Given the description of an element on the screen output the (x, y) to click on. 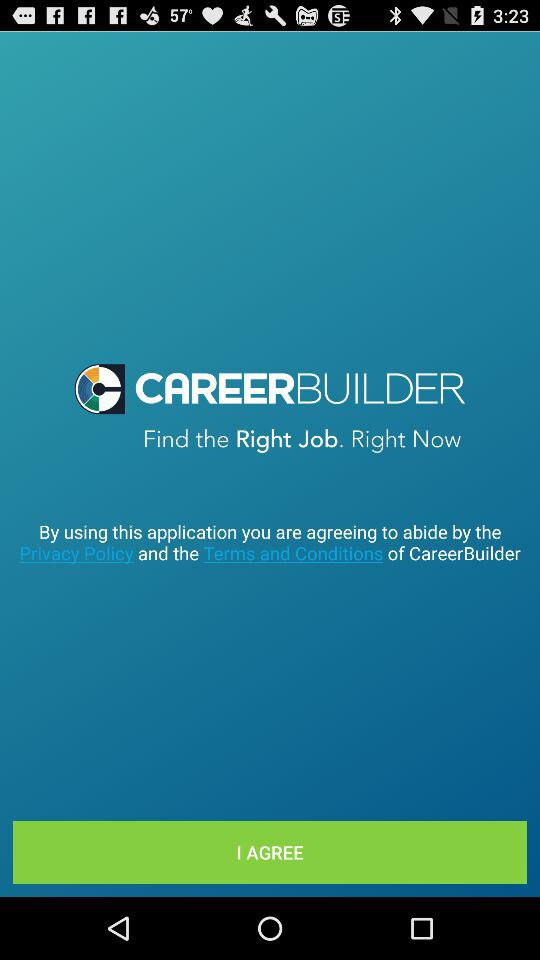
open by using this item (269, 542)
